Given the description of an element on the screen output the (x, y) to click on. 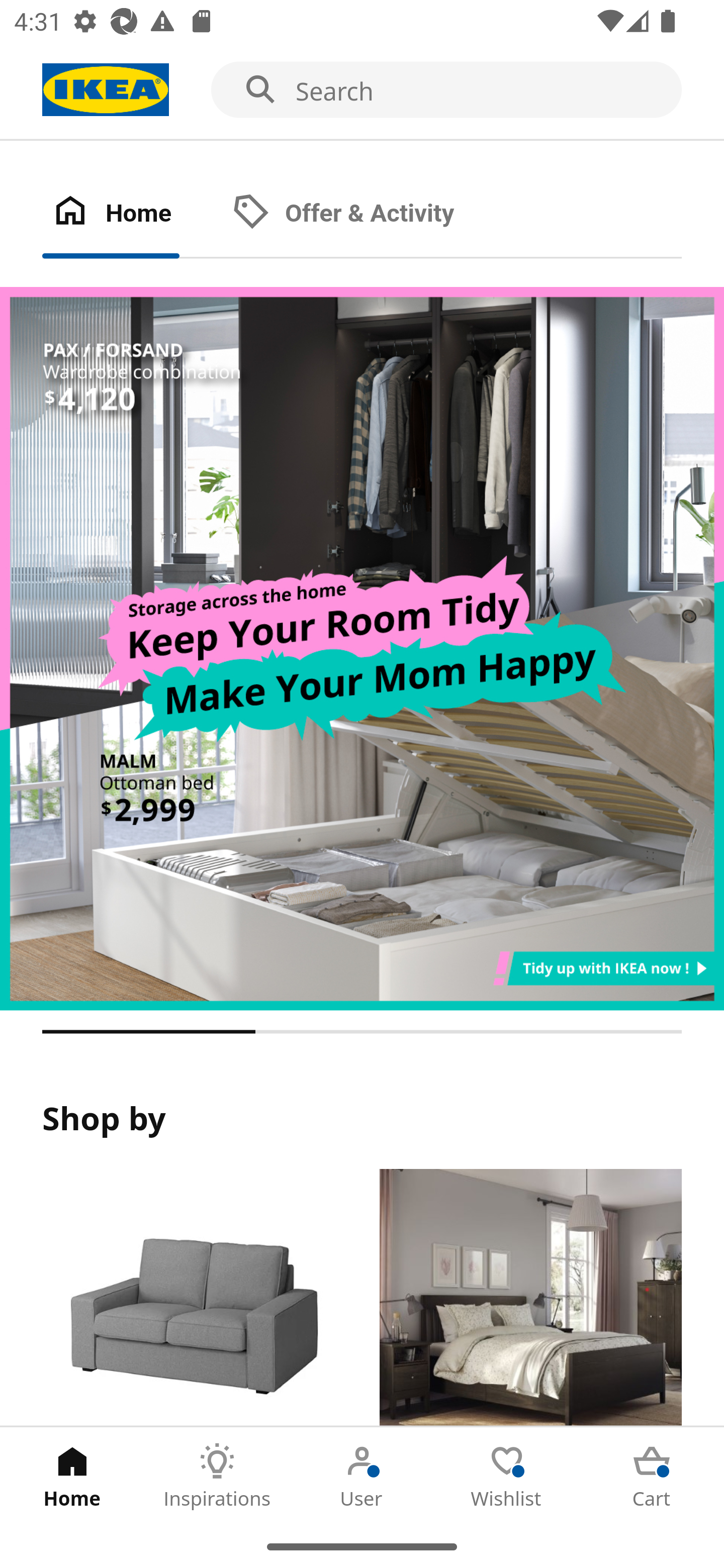
Search (361, 90)
Home
Tab 1 of 2 (131, 213)
Offer & Activity
Tab 2 of 2 (363, 213)
Products (192, 1297)
Rooms (530, 1297)
Home
Tab 1 of 5 (72, 1476)
Inspirations
Tab 2 of 5 (216, 1476)
User
Tab 3 of 5 (361, 1476)
Wishlist
Tab 4 of 5 (506, 1476)
Cart
Tab 5 of 5 (651, 1476)
